Given the description of an element on the screen output the (x, y) to click on. 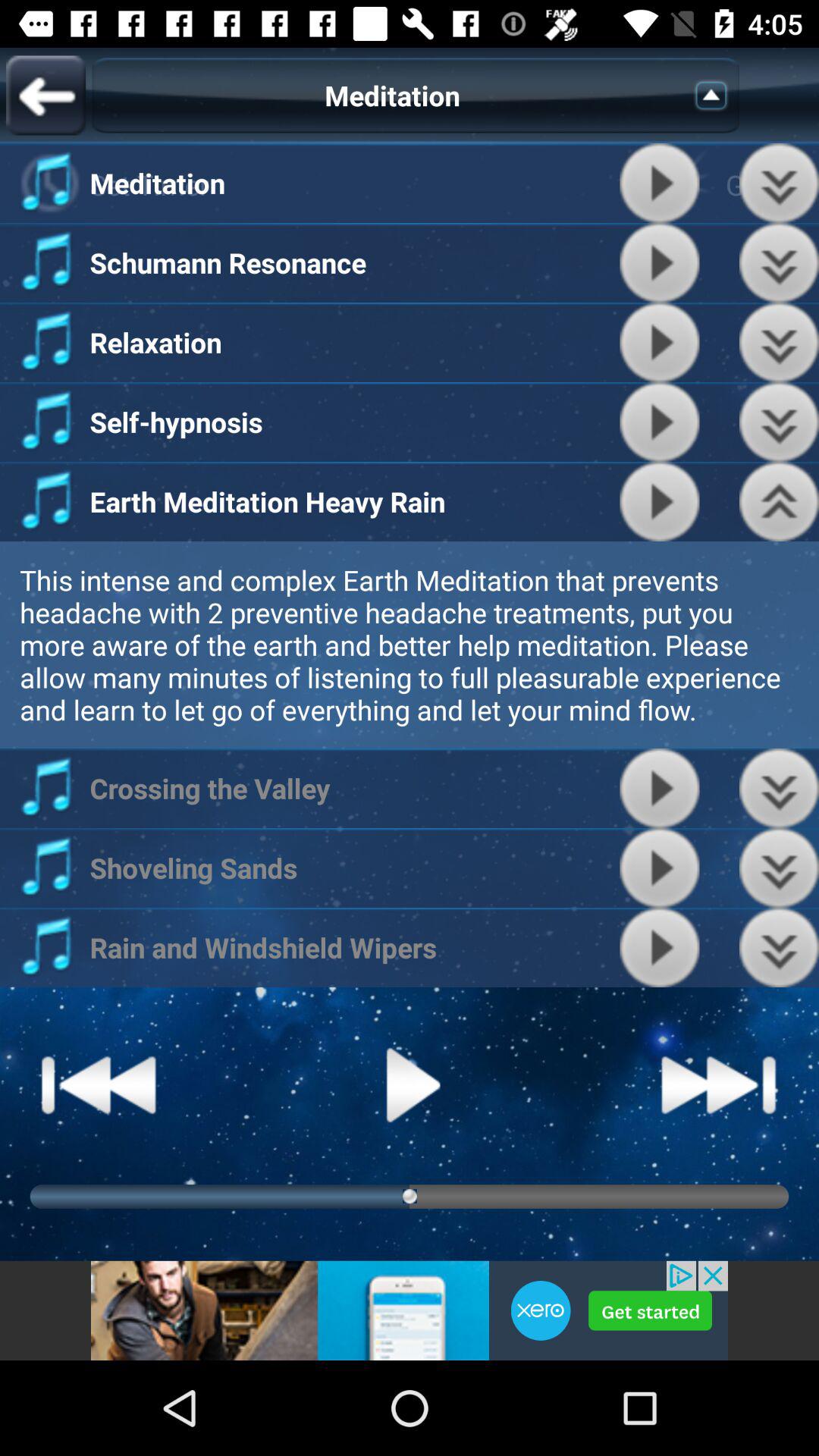
next (779, 182)
